Given the description of an element on the screen output the (x, y) to click on. 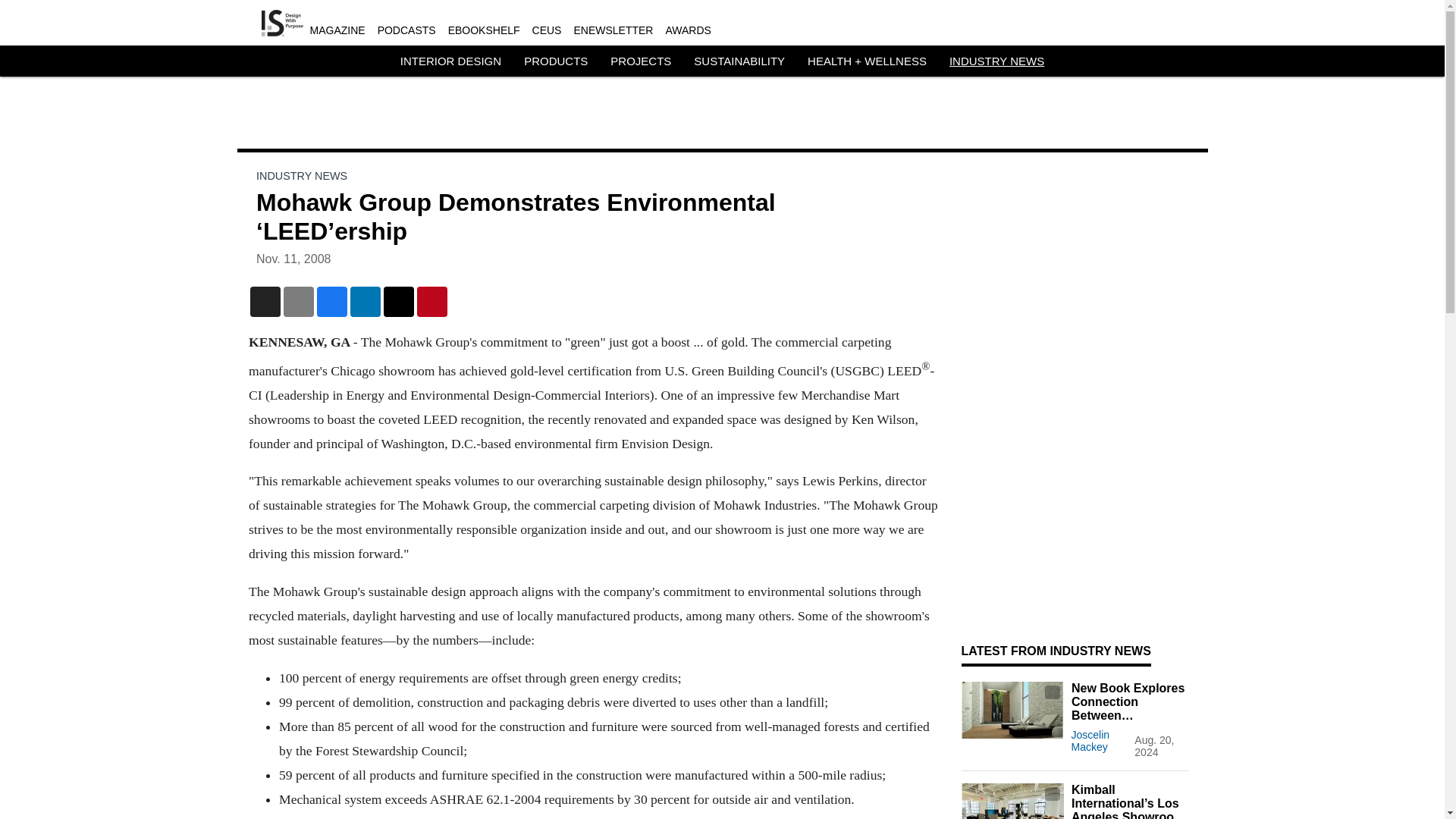
EBOOKSHELF (483, 30)
PODCASTS (406, 30)
SUSTAINABILITY (739, 60)
INDUSTRY NEWS (996, 60)
Joscelin Mackey (1089, 740)
MAGAZINE (336, 30)
ENEWSLETTER (612, 30)
CEUS (547, 30)
INTERIOR DESIGN (450, 60)
